Given the description of an element on the screen output the (x, y) to click on. 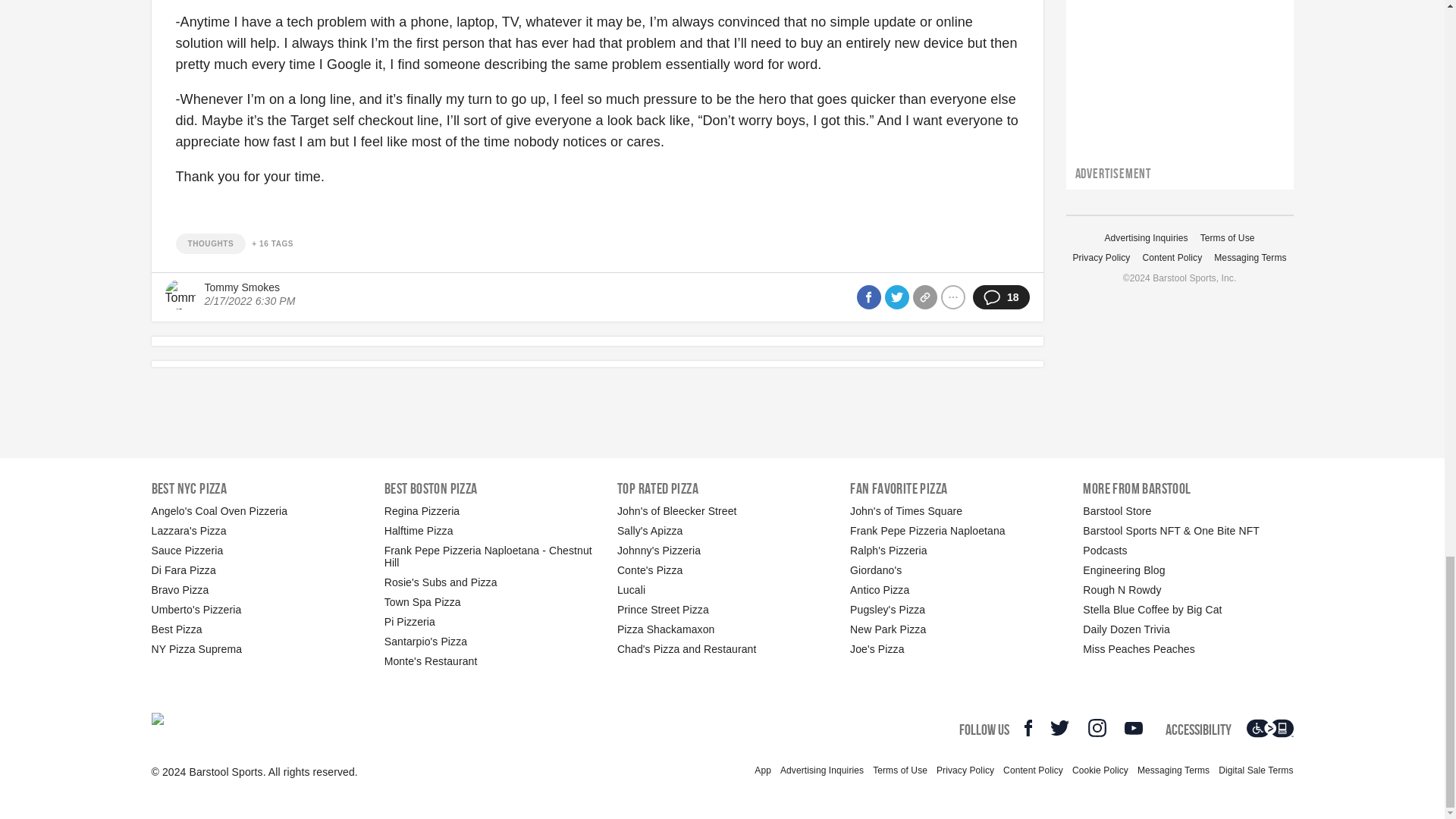
Twitter Icon (1058, 728)
Level Access website accessibility icon (1270, 728)
Instagram Icon (1096, 728)
YouTube Icon (1132, 728)
